Given the description of an element on the screen output the (x, y) to click on. 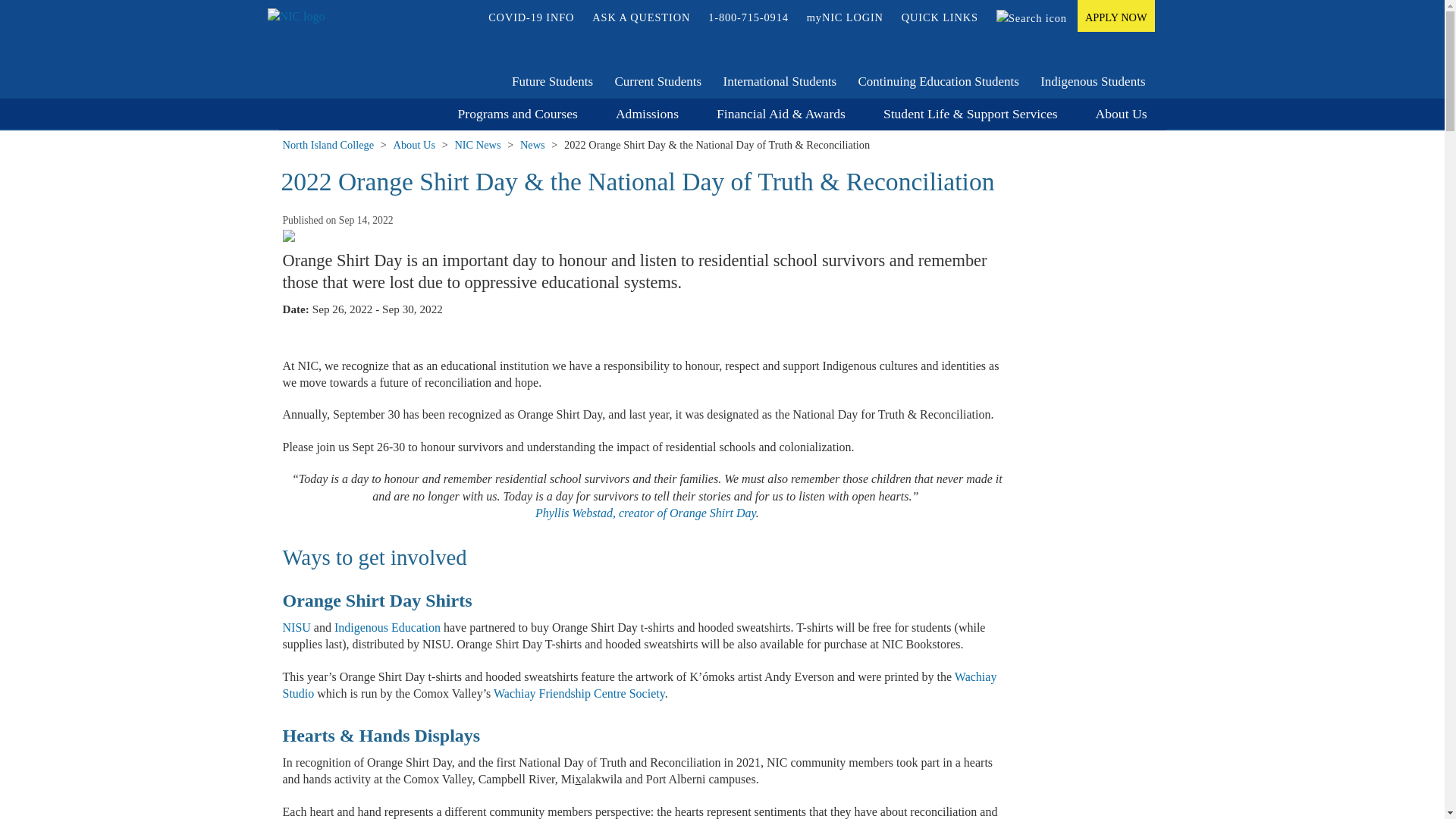
News Element type: text (532, 144)
North Island College Element type: text (327, 144)
Financial Aid & Awards Element type: text (780, 114)
Wachiay Friendship Centre Society Element type: text (579, 693)
NISU Element type: text (296, 627)
International Students Element type: text (779, 81)
About Us Element type: text (1121, 114)
Admissions Element type: text (646, 114)
ASK A QUESTION Element type: text (640, 17)
Phyllis Webstad, creator of Orange Shirt Day Element type: text (645, 512)
1-800-715-0914 Element type: text (748, 17)
Indigenous Students Element type: text (1092, 81)
NIC News Element type: text (477, 144)
Future Students Element type: text (552, 81)
Wachiay Studio Element type: text (639, 684)
myNIC LOGIN Element type: text (845, 17)
Continuing Education Students Element type: text (938, 81)
Current Students Element type: text (657, 81)
Programs and Courses Element type: text (517, 114)
About Us Element type: text (414, 144)
Student Life & Support Services Element type: text (970, 114)
COVID-19 INFO Element type: text (530, 17)
APPLY NOW Element type: text (1115, 15)
Indigenous Education Element type: text (387, 627)
